Given the description of an element on the screen output the (x, y) to click on. 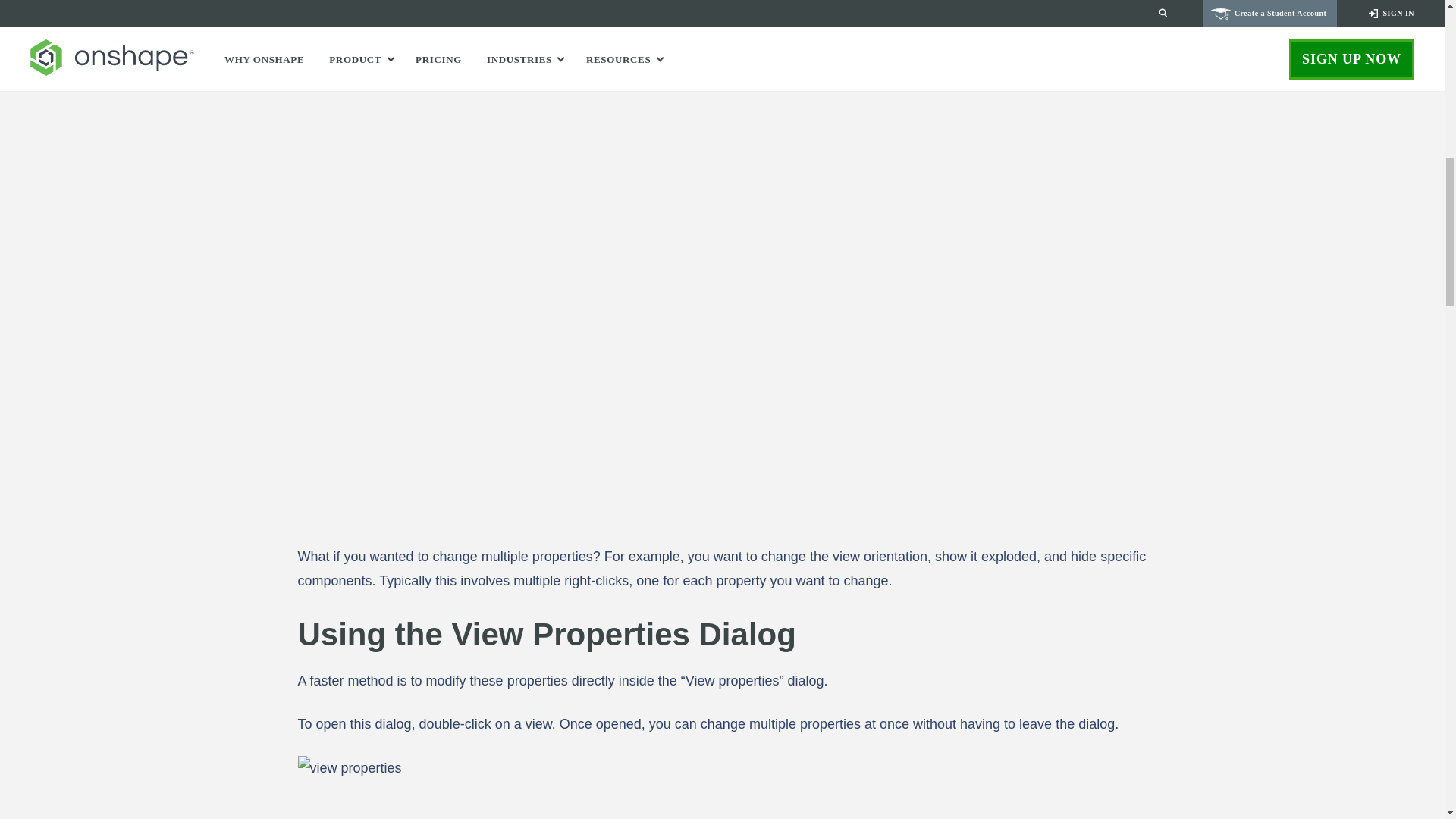
Double-click Property Change (722, 787)
